Given the description of an element on the screen output the (x, y) to click on. 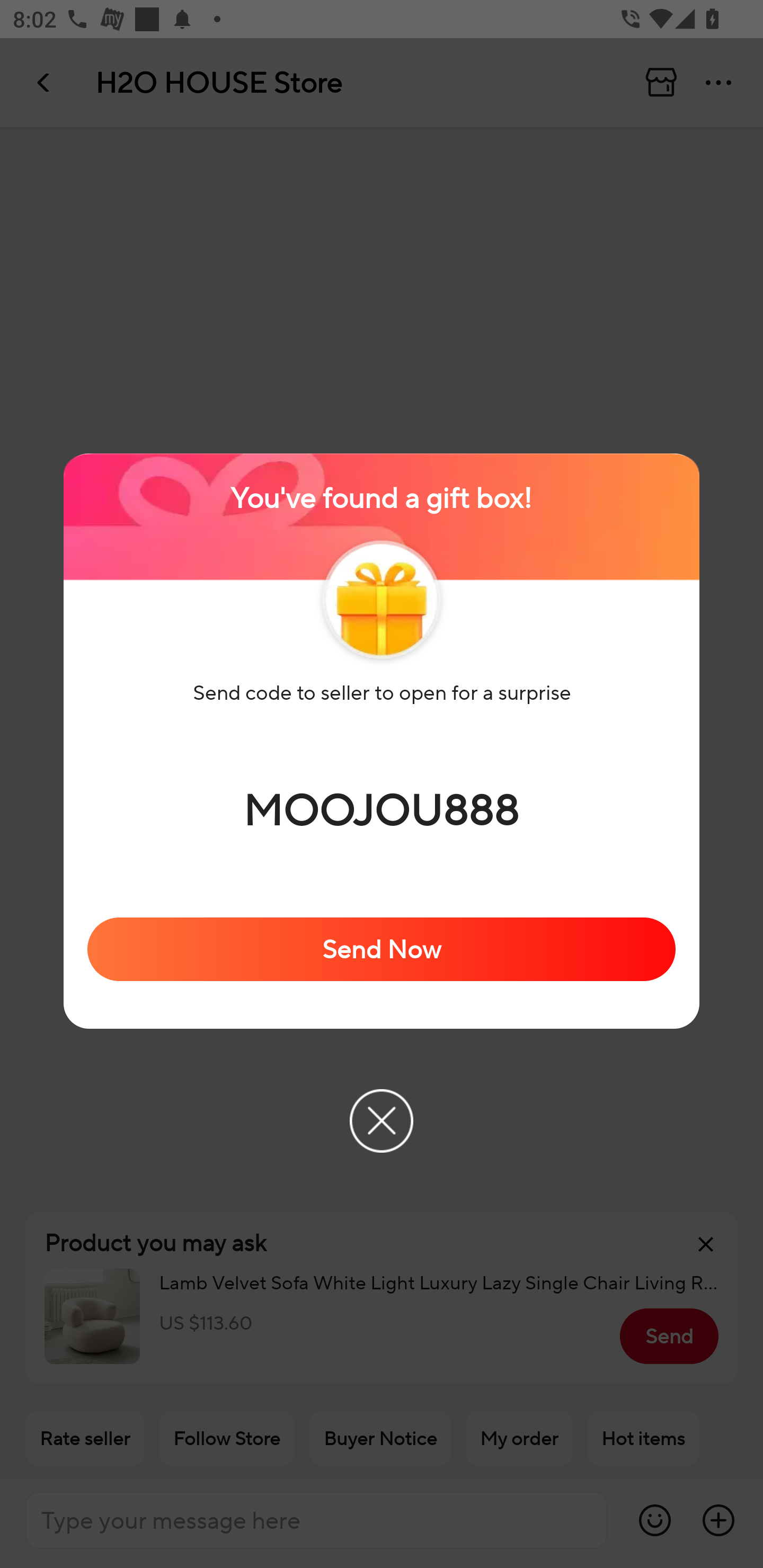
Send Now (381, 949)
